Given the description of an element on the screen output the (x, y) to click on. 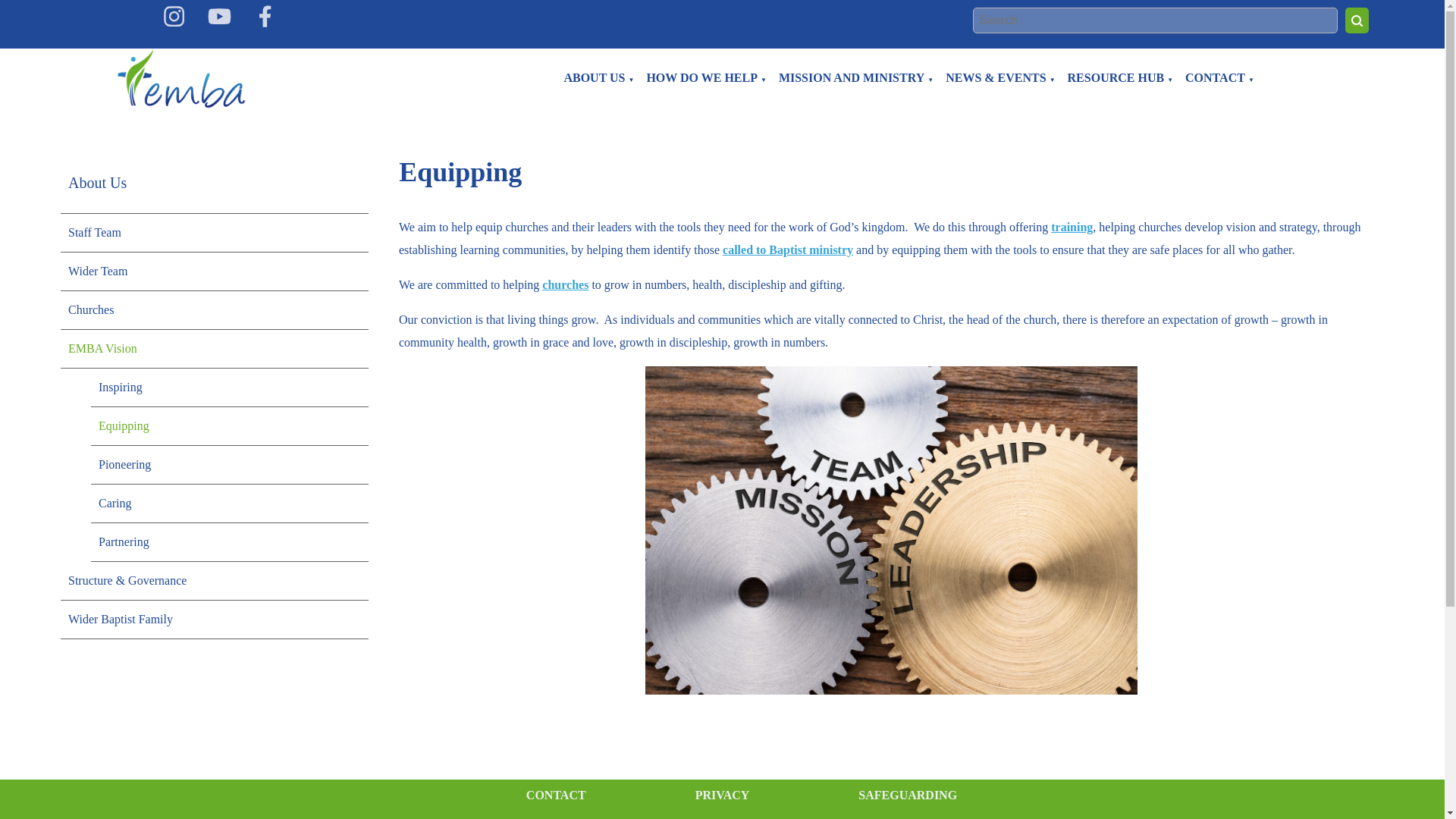
EMBA Logo Click for homepage (180, 78)
